Given the description of an element on the screen output the (x, y) to click on. 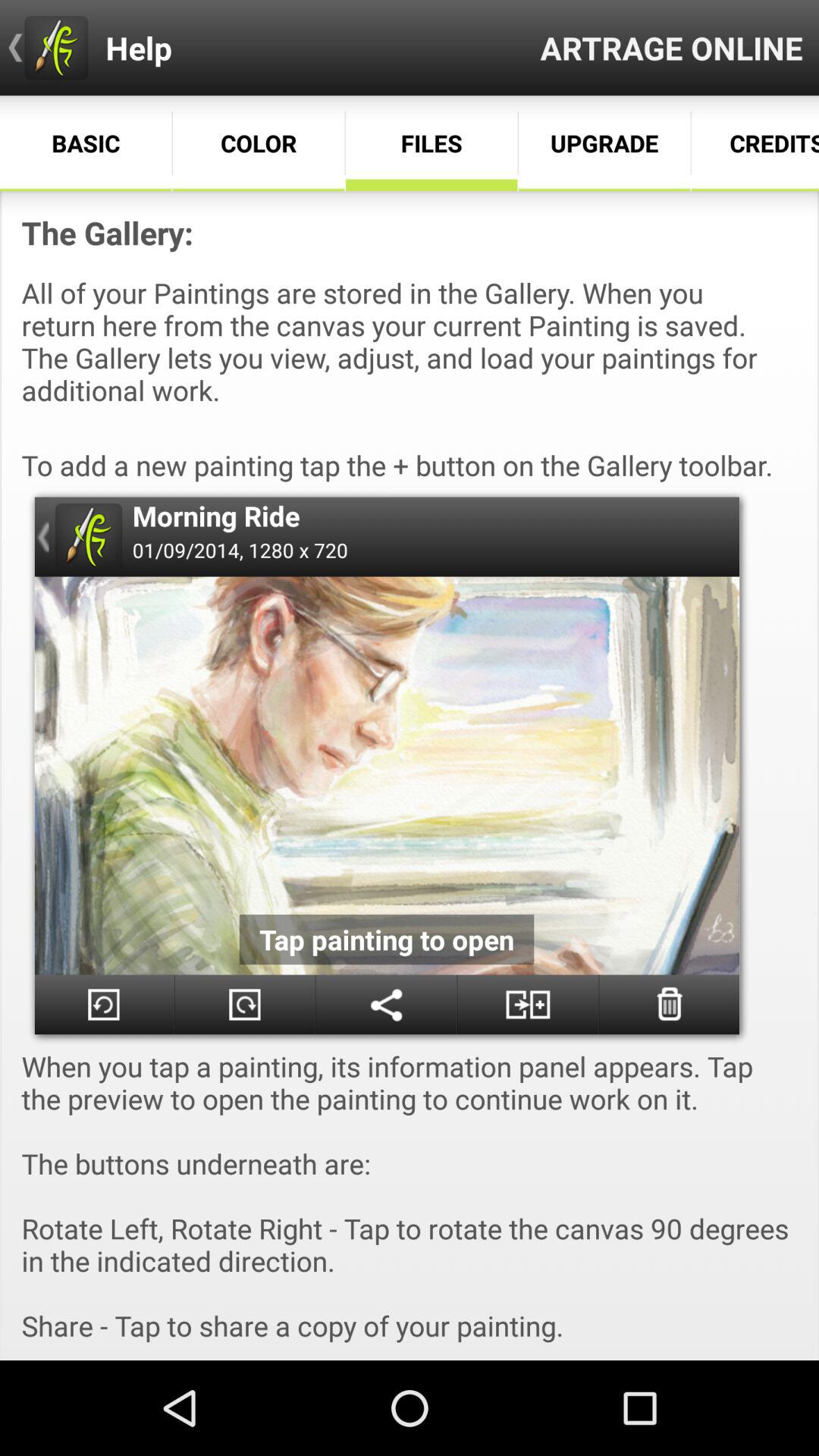
tap item next to help (671, 47)
